Given the description of an element on the screen output the (x, y) to click on. 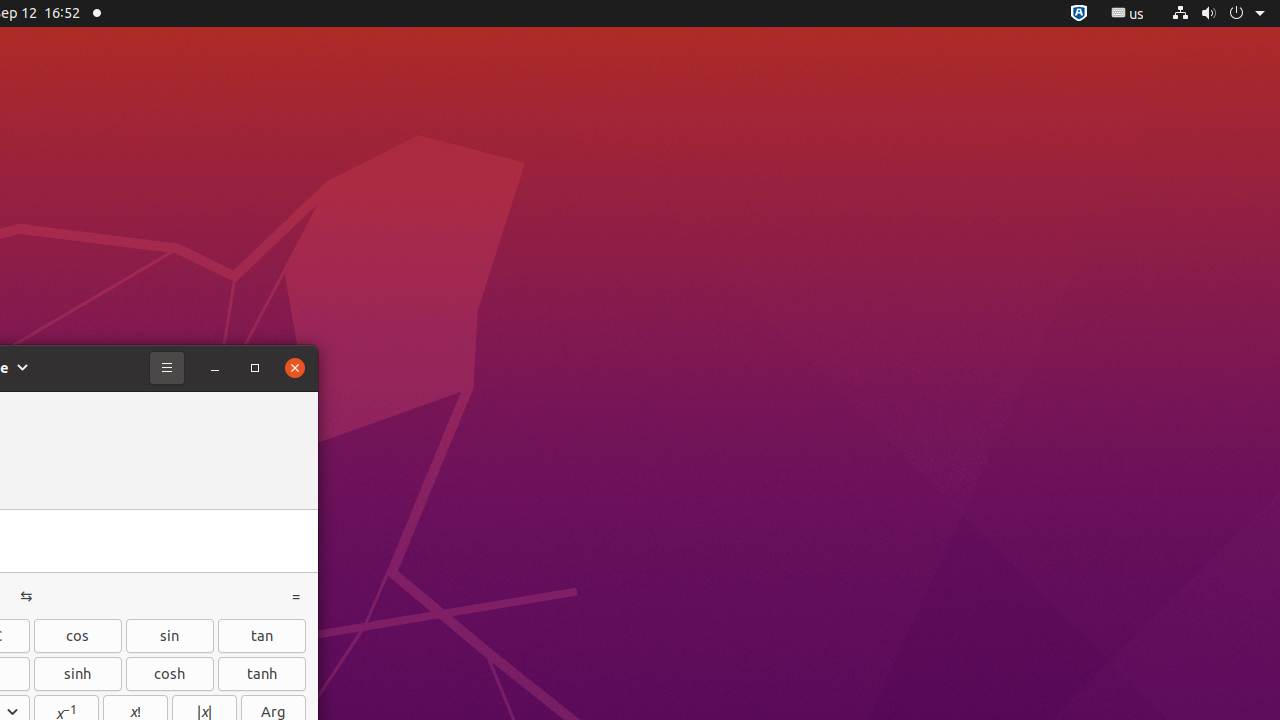
tan Element type: push-button (262, 636)
sin Element type: push-button (170, 636)
sinh Element type: push-button (78, 674)
